Given the description of an element on the screen output the (x, y) to click on. 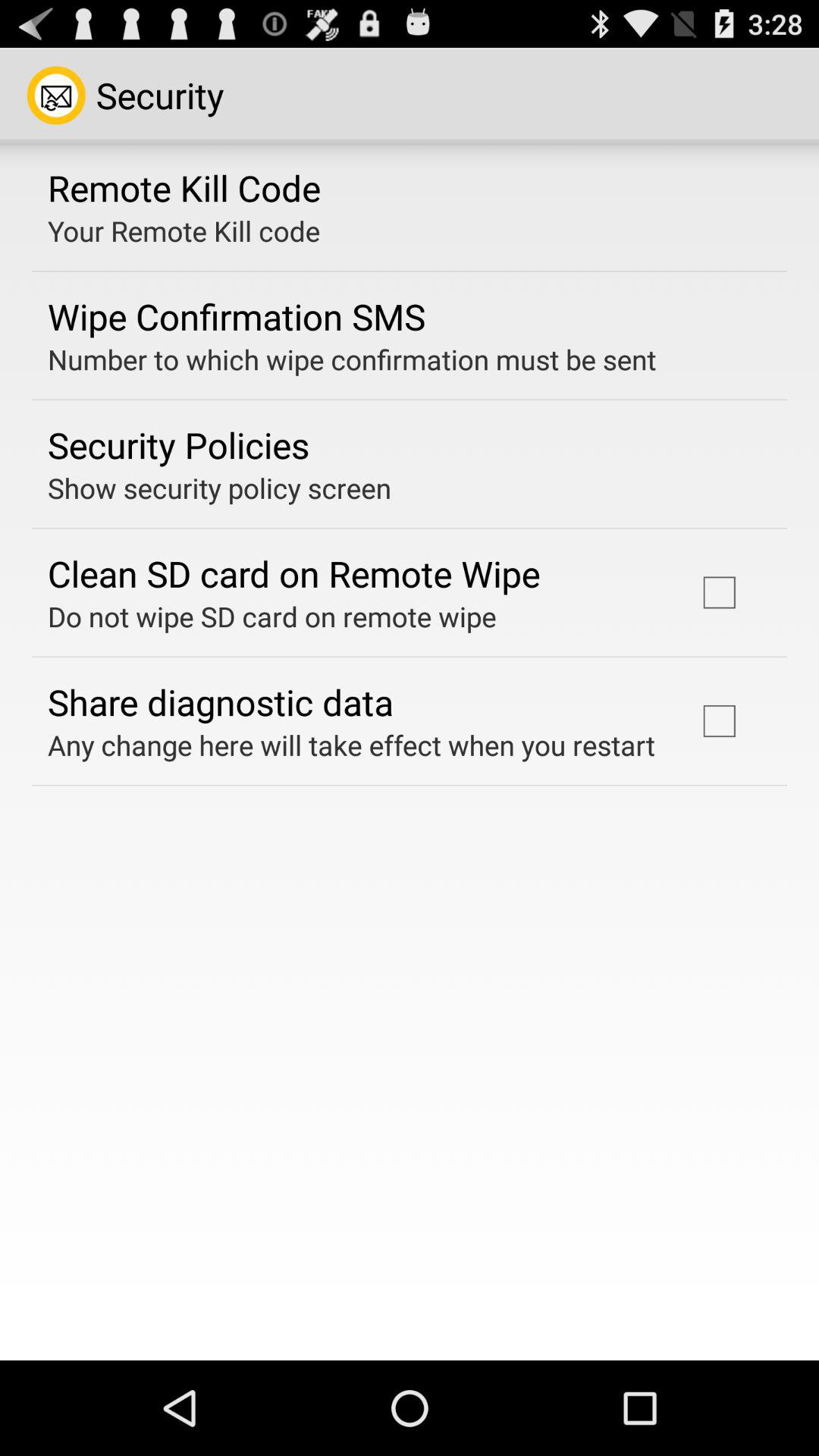
swipe until security policies item (178, 444)
